Given the description of an element on the screen output the (x, y) to click on. 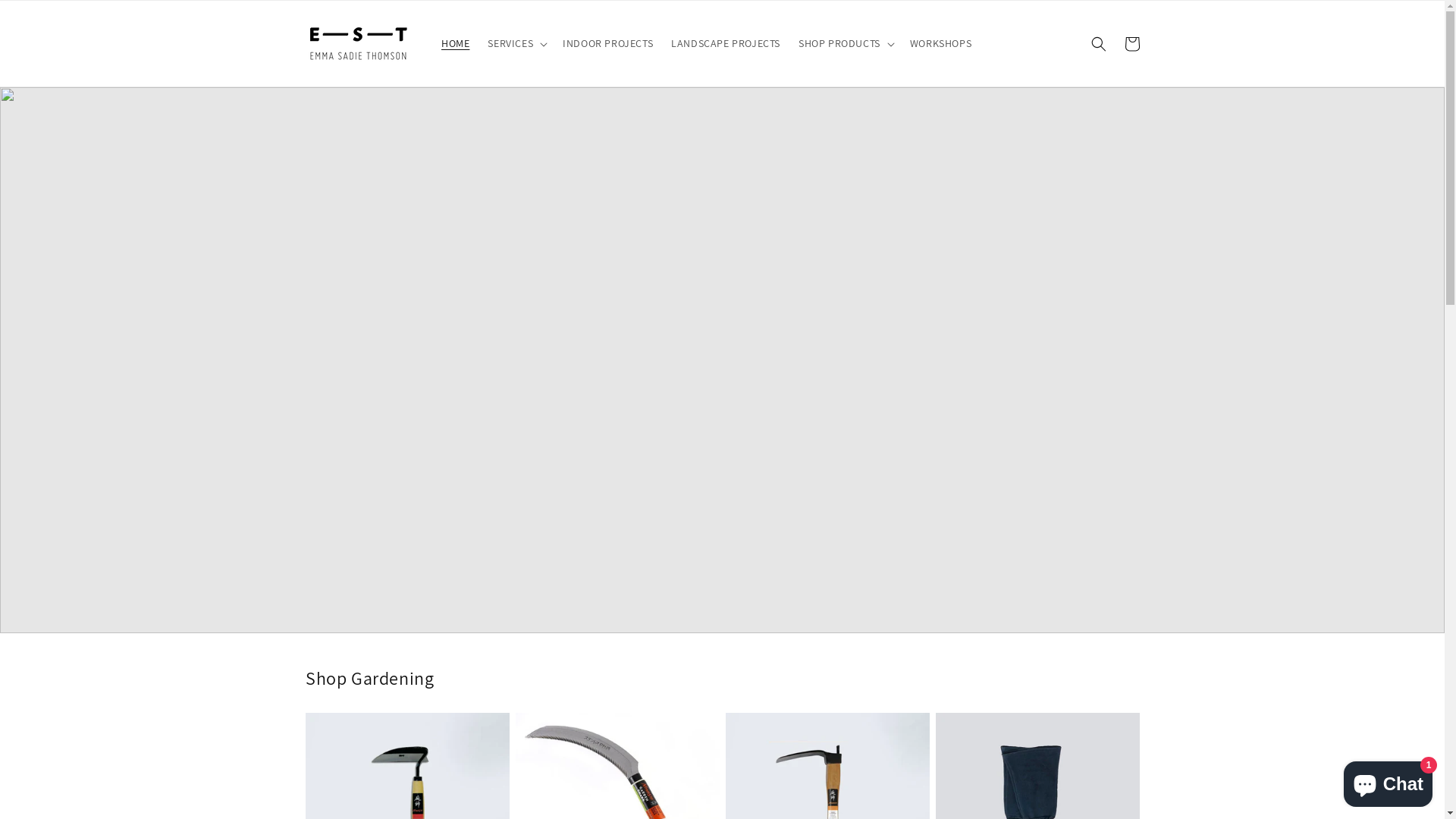
Cart Element type: text (1131, 43)
WORKSHOPS Element type: text (940, 43)
Shopify online store chat Element type: hover (1388, 780)
INDOOR PROJECTS Element type: text (607, 43)
HOME Element type: text (455, 43)
LANDSCAPE PROJECTS Element type: text (725, 43)
